Given the description of an element on the screen output the (x, y) to click on. 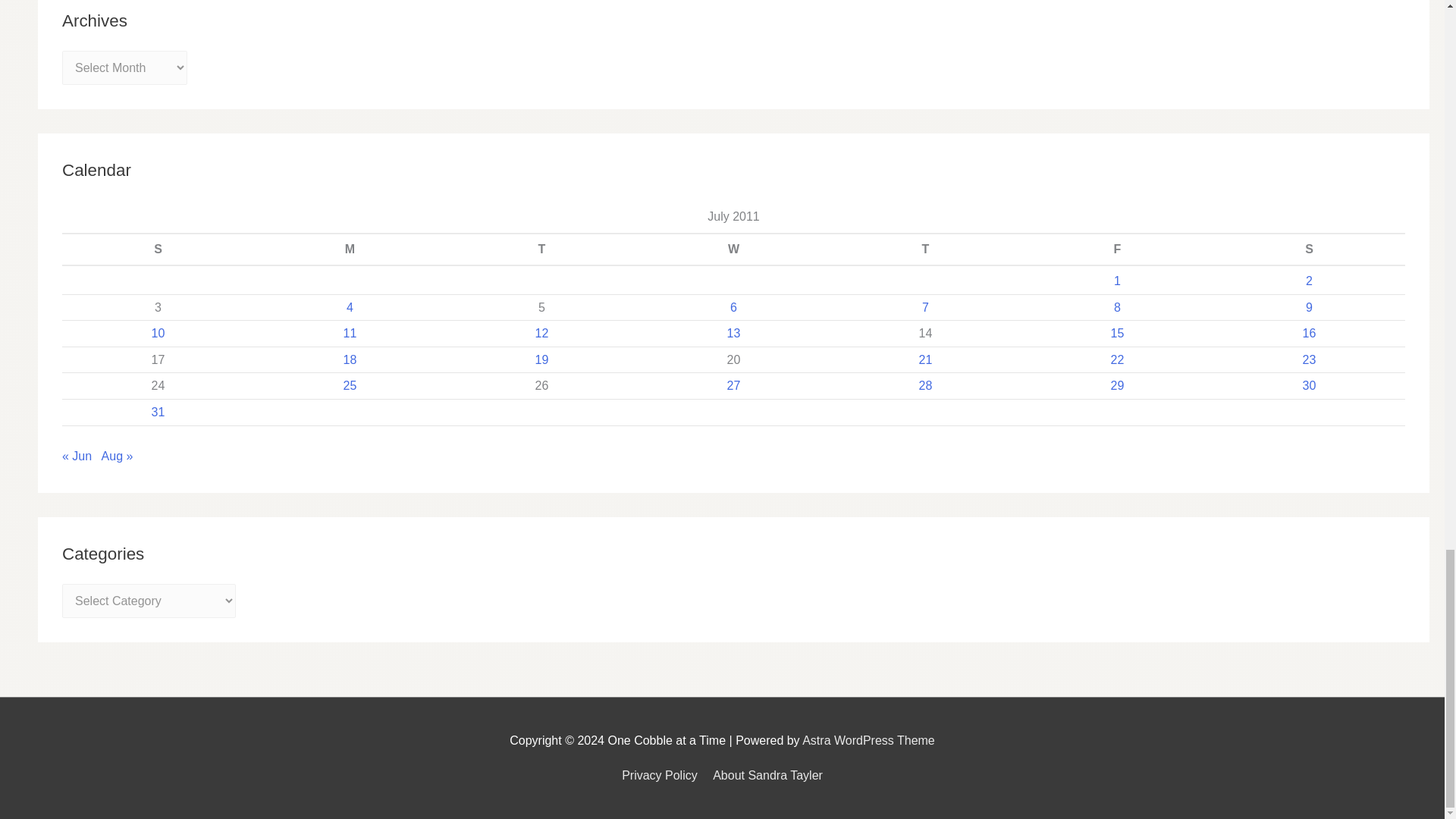
16 (1309, 332)
9 (1309, 307)
4 (349, 307)
22 (1117, 359)
21 (925, 359)
18 (349, 359)
6 (733, 307)
Thursday (925, 249)
15 (1117, 332)
13 (733, 332)
19 (541, 359)
2 (1309, 280)
7 (924, 307)
Tuesday (541, 249)
23 (1309, 359)
